Given the description of an element on the screen output the (x, y) to click on. 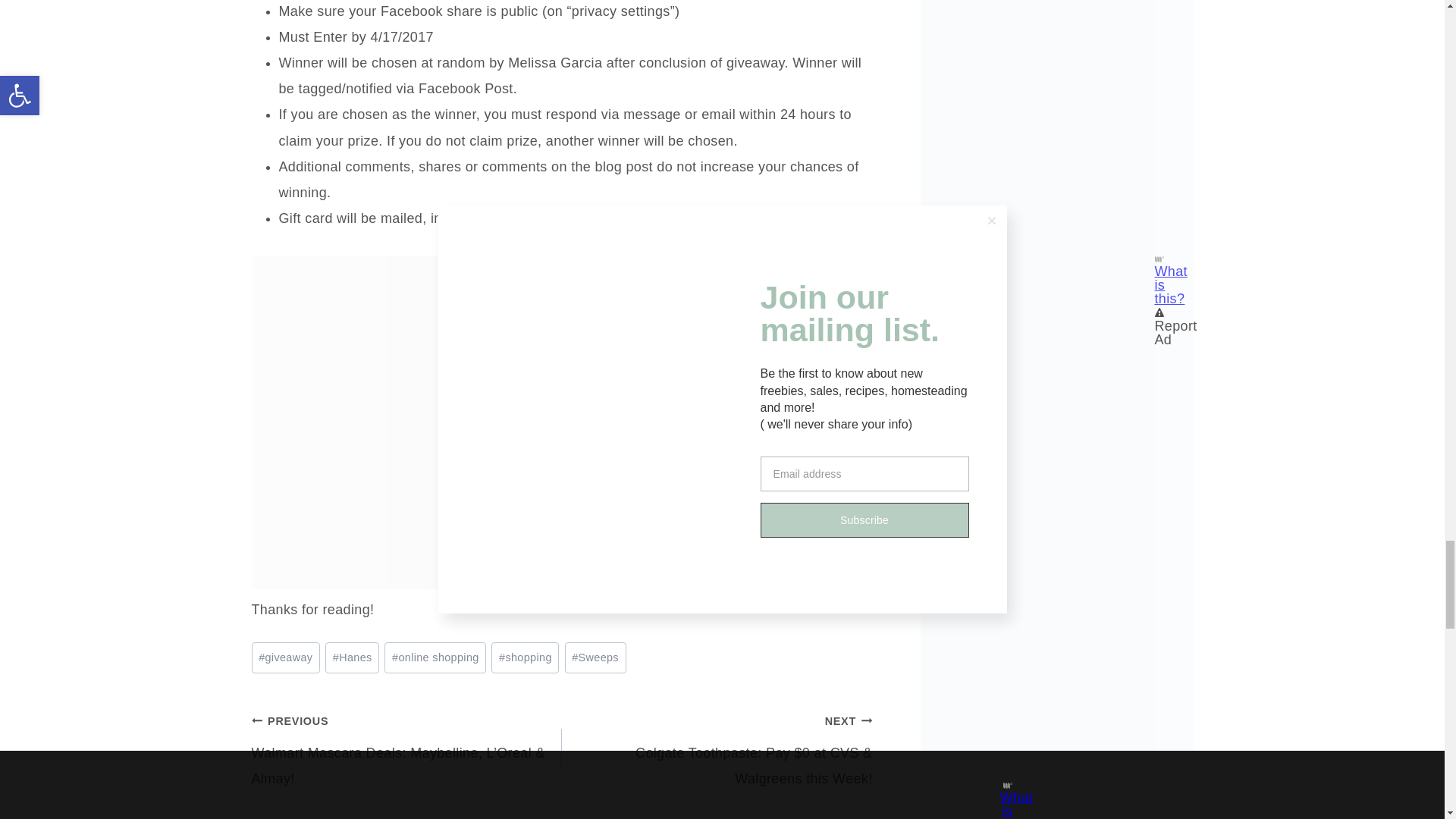
giveaway (285, 657)
Sweeps (595, 657)
online shopping (435, 657)
Hanes (351, 657)
shopping (525, 657)
